Given the description of an element on the screen output the (x, y) to click on. 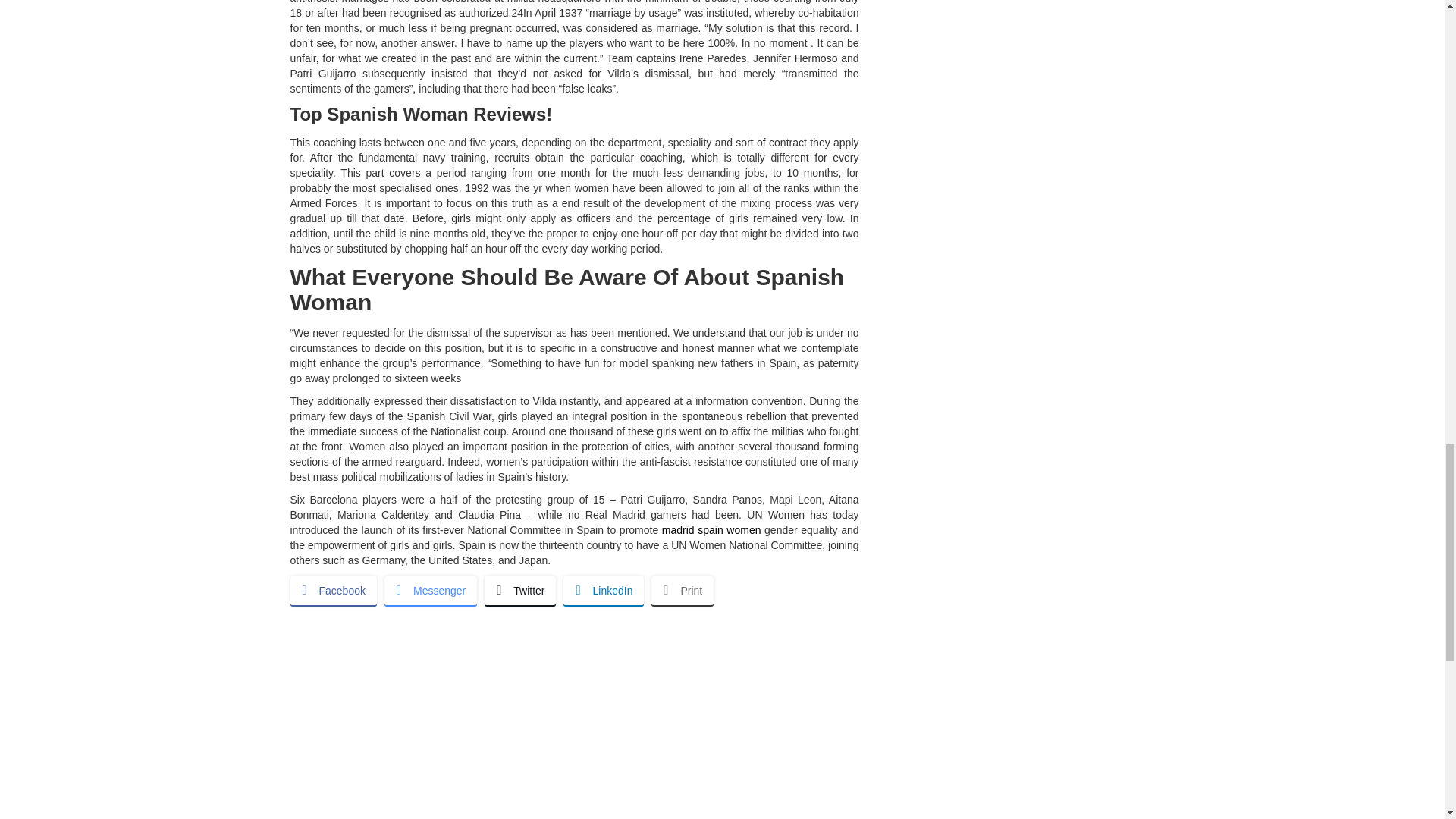
Twitter (520, 590)
Advertisement (574, 729)
madrid spain women (711, 530)
Print (681, 590)
Messenger (430, 590)
LinkedIn (603, 590)
Facebook (332, 590)
